Given the description of an element on the screen output the (x, y) to click on. 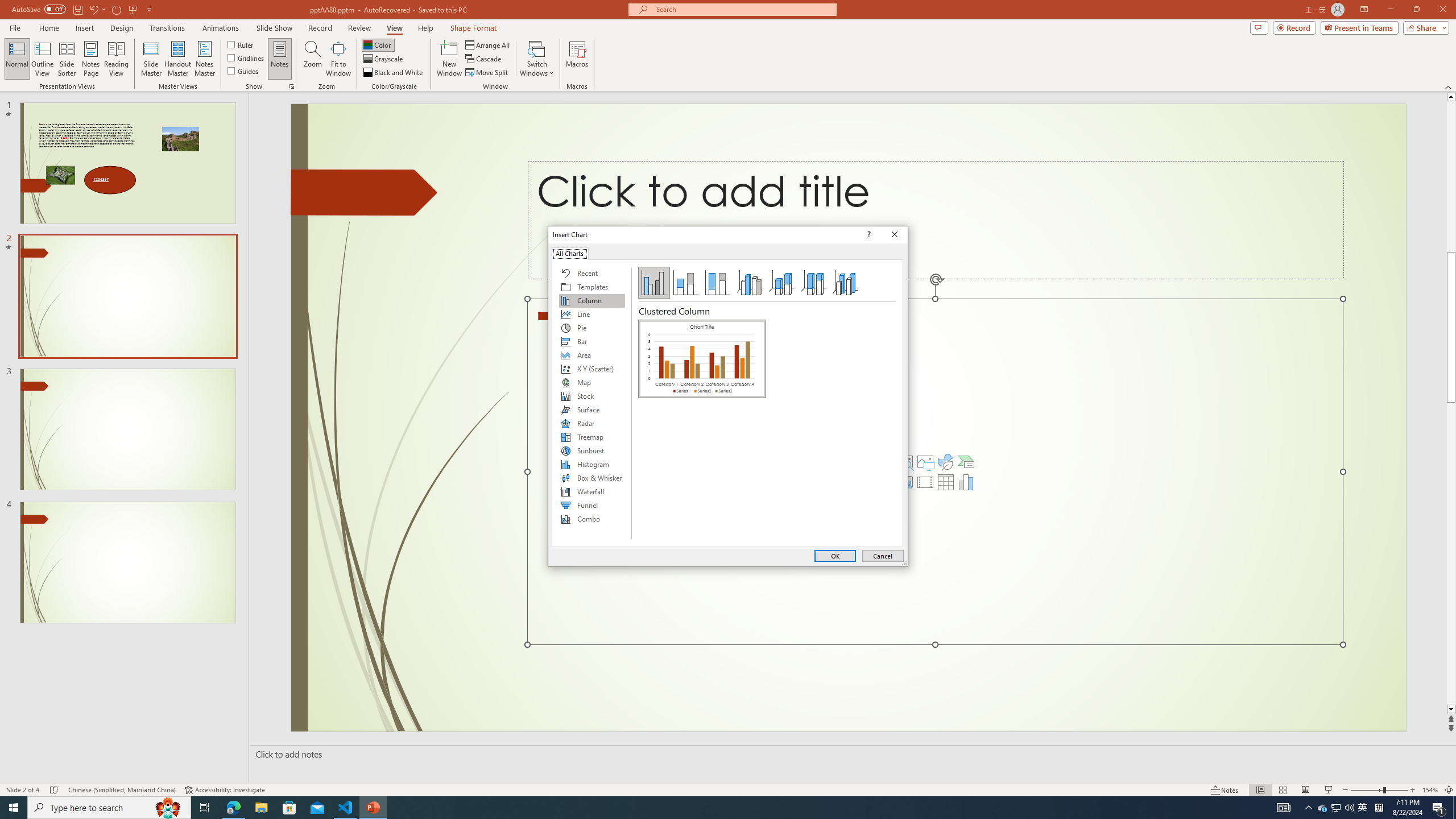
Slide Master (151, 58)
Context help (867, 234)
Chart Types (591, 403)
OK (834, 555)
